Given the description of an element on the screen output the (x, y) to click on. 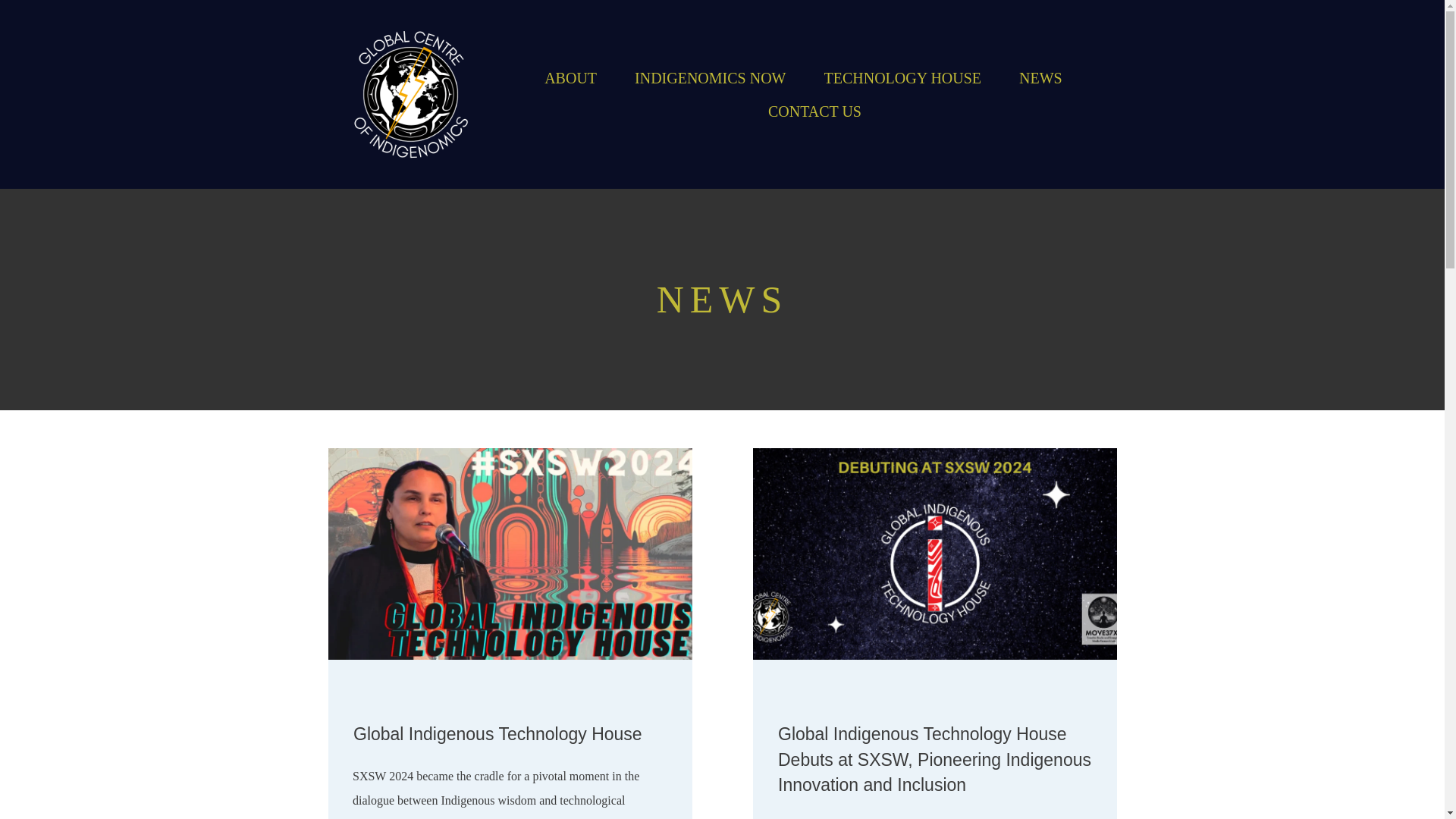
CONTACT US (814, 110)
TECHNOLOGY HOUSE (902, 77)
INDIGENOMICS NOW (710, 77)
NEWS (1040, 77)
Global Indigenous Technology House (497, 733)
ABOUT (570, 77)
Global Indigenous Technology House (497, 733)
